Given the description of an element on the screen output the (x, y) to click on. 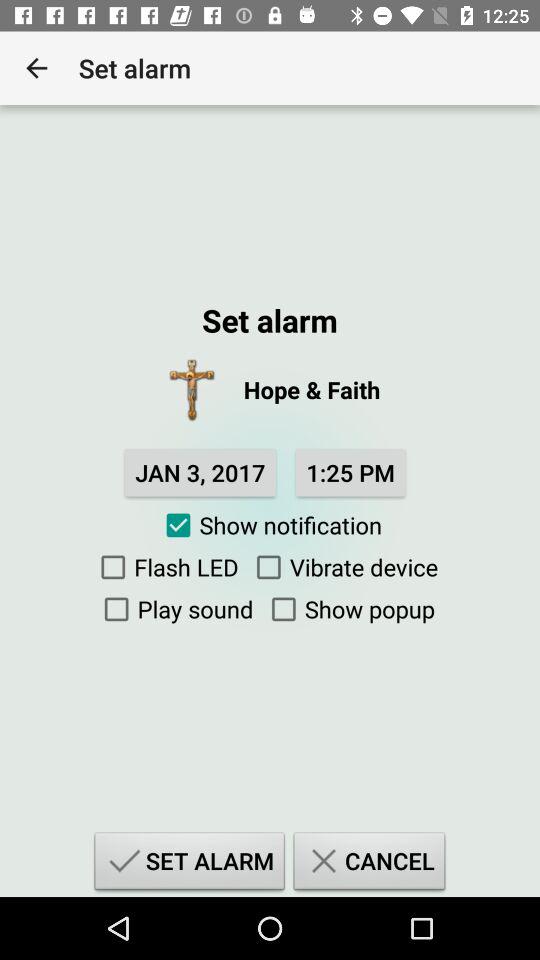
tap icon below the show notification (342, 567)
